Given the description of an element on the screen output the (x, y) to click on. 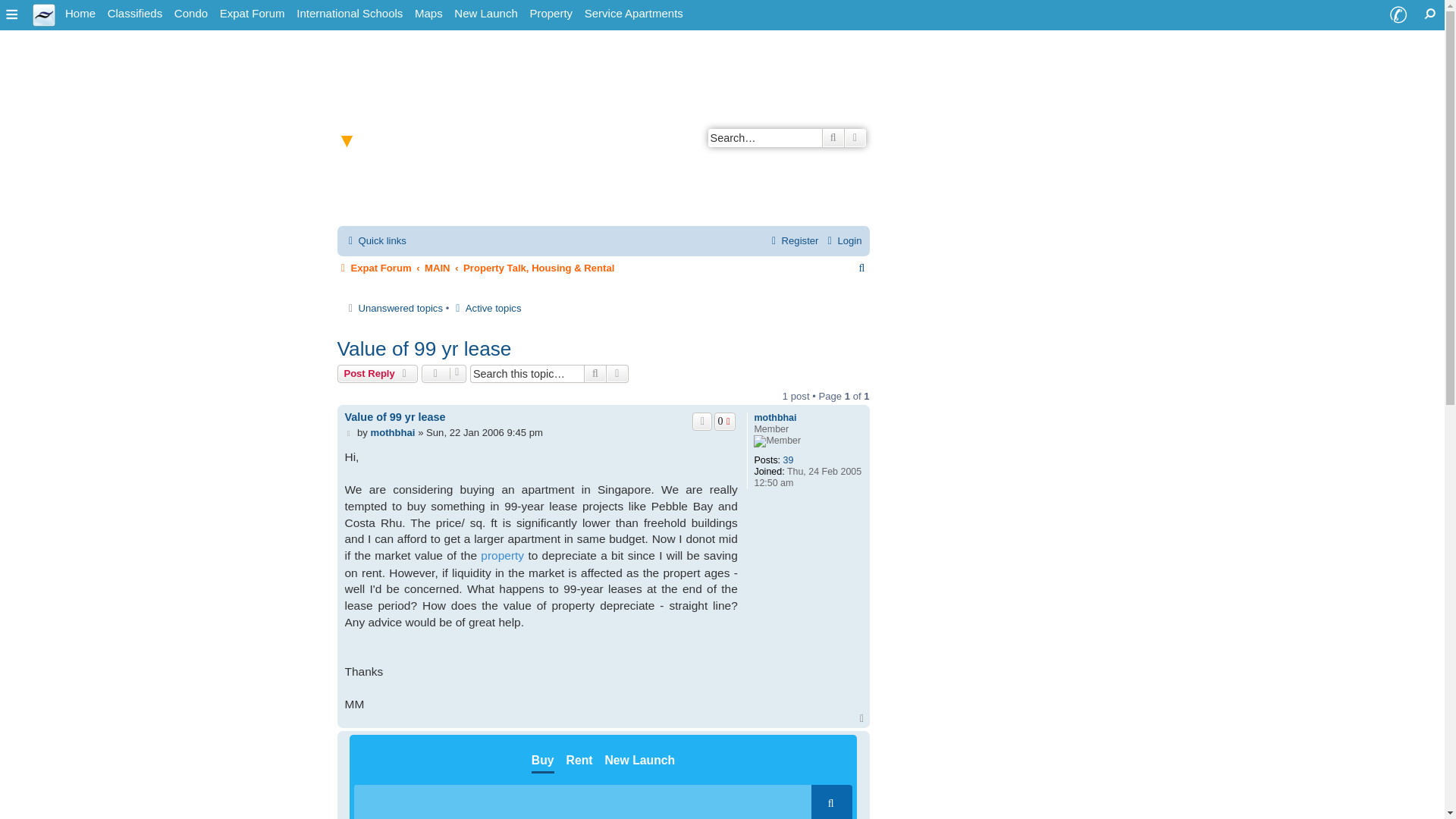
Singapore Condo Directory (191, 13)
Condo (191, 13)
Contact Us (1397, 15)
New Property Launch (485, 13)
Singapore International Schools (349, 13)
Classifieds (135, 13)
Singapore Expats Forum (252, 13)
Expat Forum (252, 13)
New Launch (485, 13)
Service Apartments (633, 13)
Property (550, 13)
Singapore Expats (44, 13)
Singapore Street Maps (428, 13)
Singapore Expats (80, 13)
Singapore Property (550, 13)
